Given the description of an element on the screen output the (x, y) to click on. 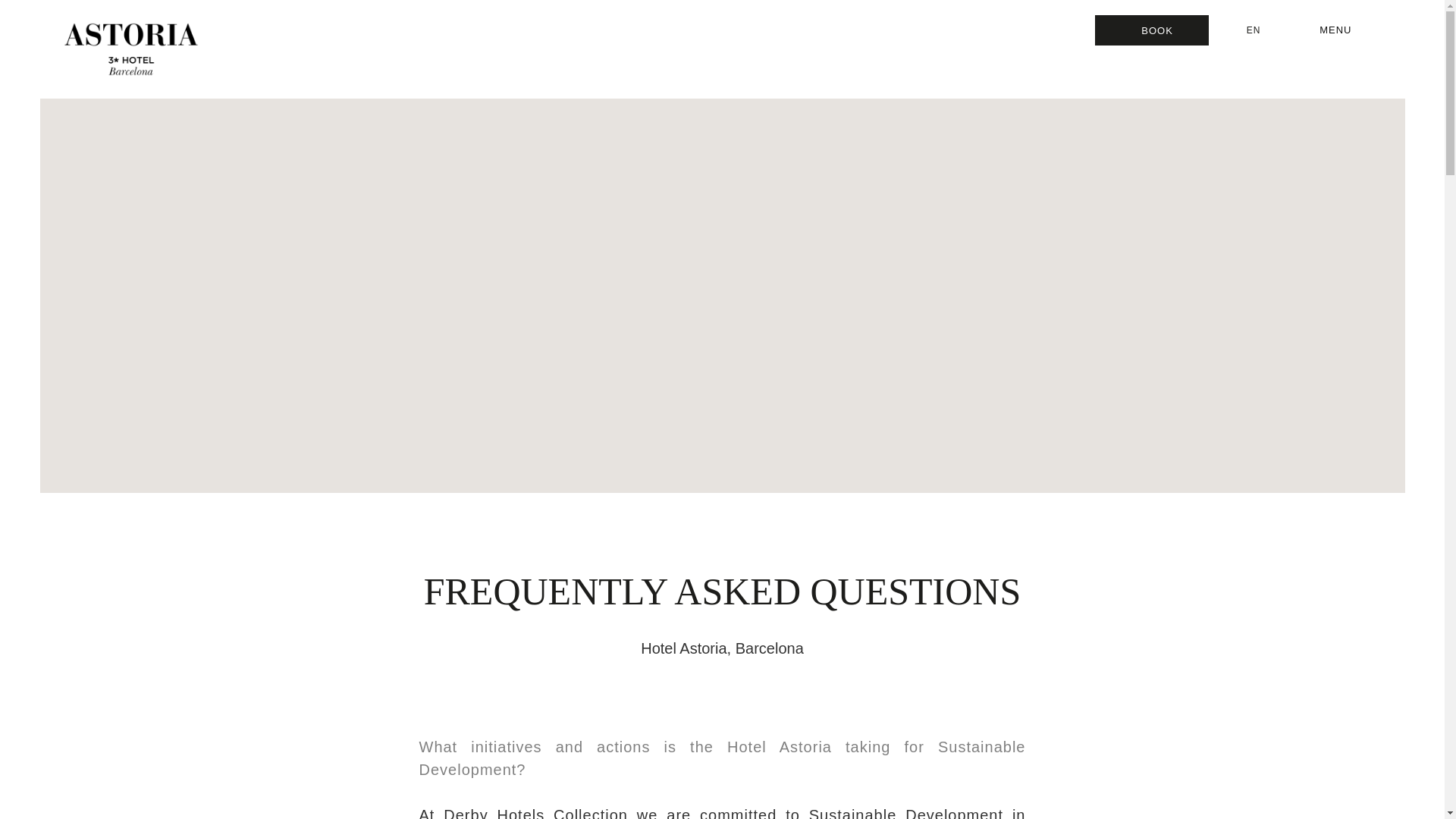
Menu (1341, 29)
BOOK (1151, 30)
MENU (1341, 29)
Booking (1151, 30)
Hotel Astoria (130, 49)
